Given the description of an element on the screen output the (x, y) to click on. 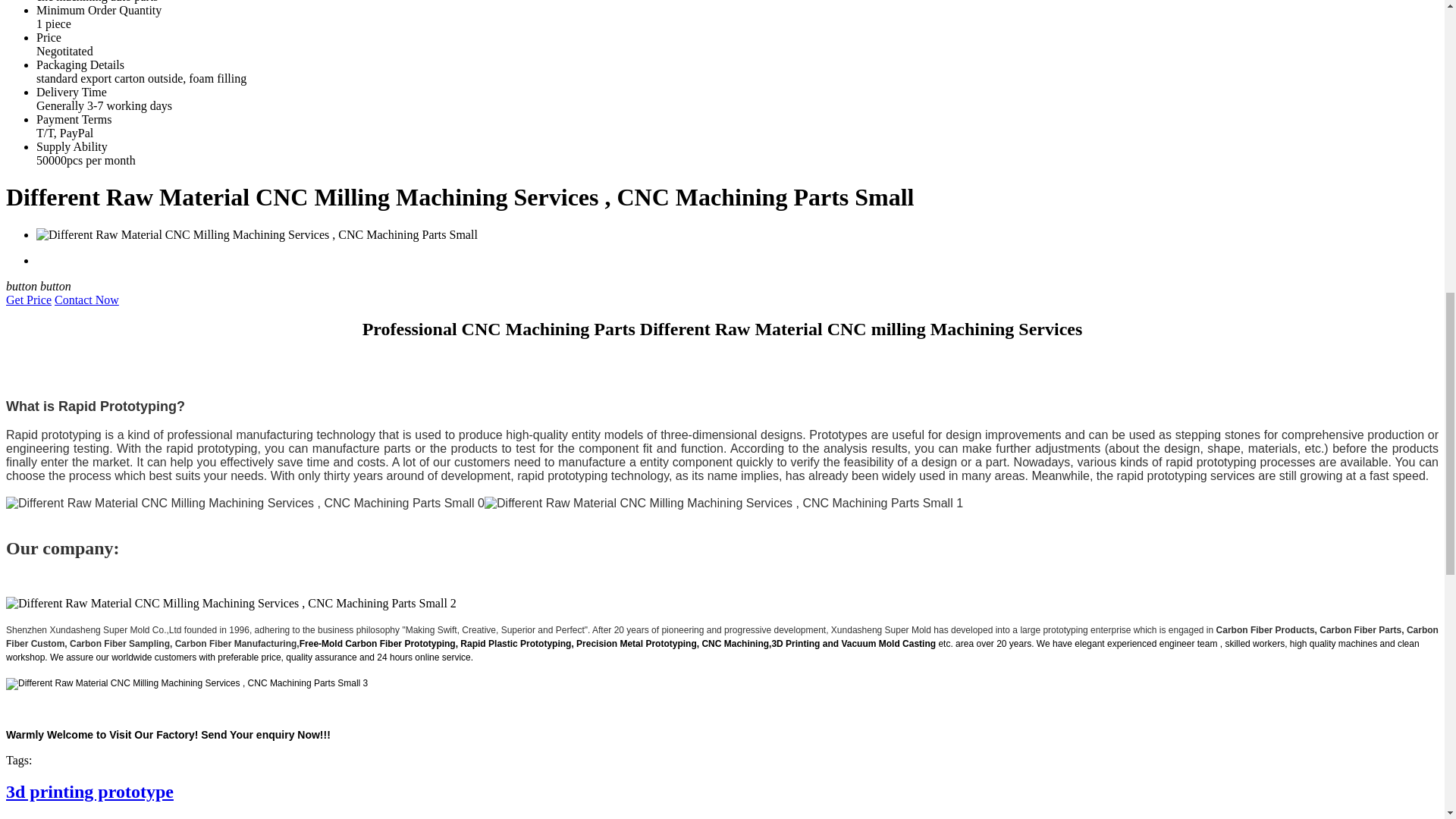
Get Price (27, 299)
button (22, 286)
Contact Now (87, 299)
button (55, 286)
3d printing prototype (89, 791)
3d printing prototype (89, 791)
